Given the description of an element on the screen output the (x, y) to click on. 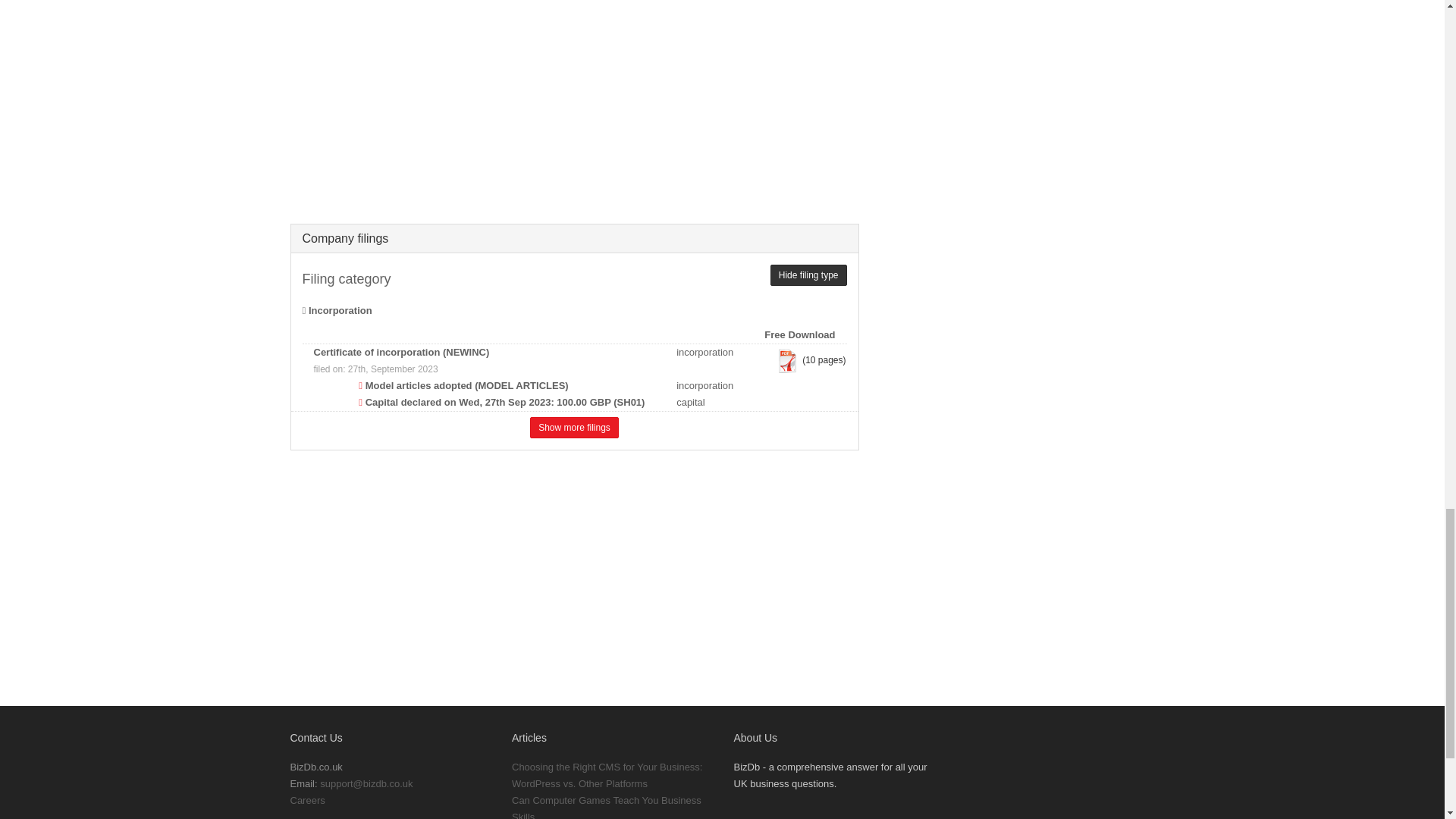
Email Us (366, 783)
Show more filings (573, 427)
Careers (306, 799)
Articles (529, 737)
Can Computer Games Teach You Business Skills (606, 806)
Download the filing (787, 360)
